Given the description of an element on the screen output the (x, y) to click on. 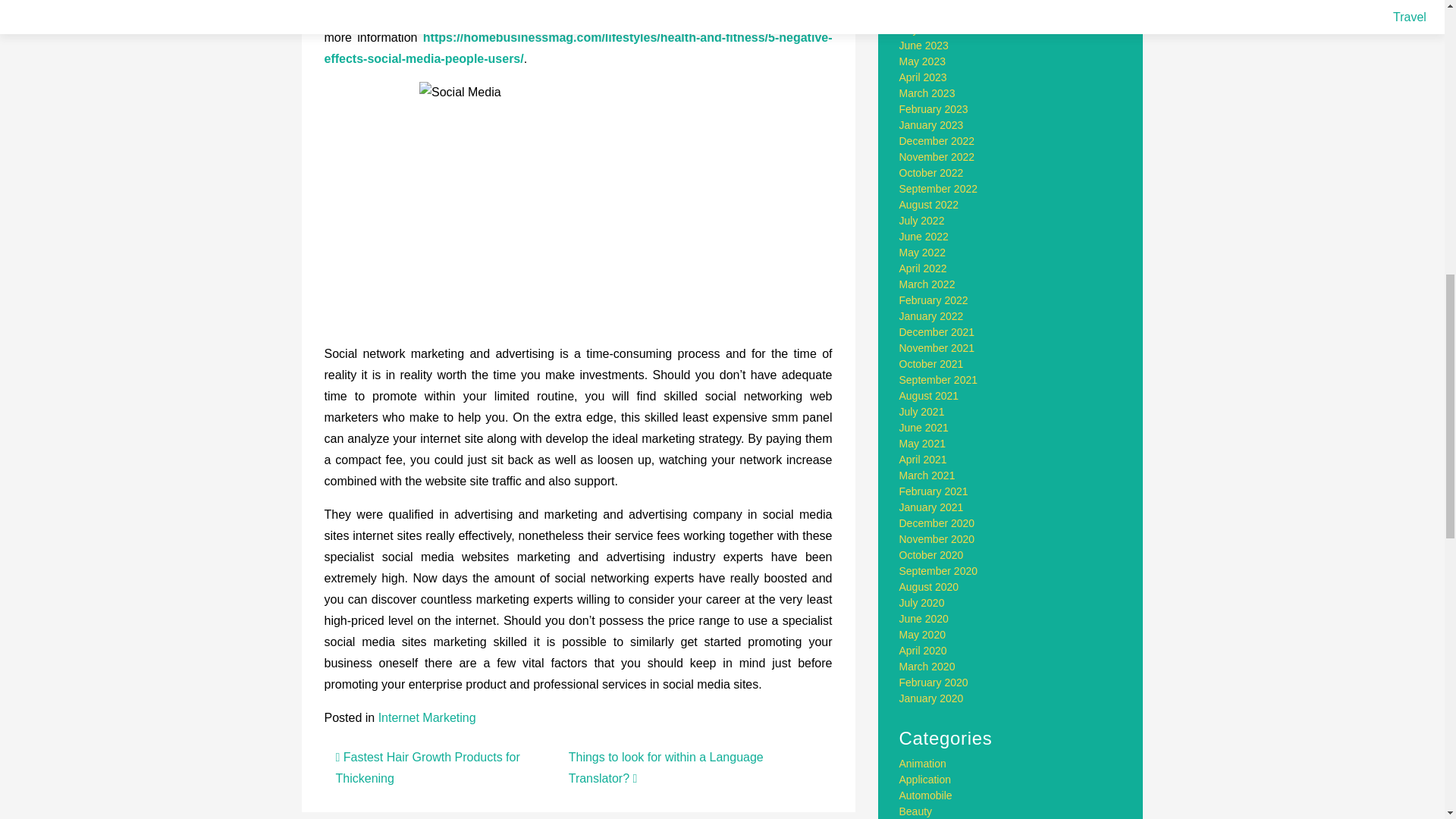
Internet Marketing (427, 717)
 Fastest Hair Growth Products for Thickening (426, 767)
August 2023 (929, 13)
July 2023 (921, 29)
July 2022 (921, 220)
October 2022 (931, 173)
January 2023 (931, 124)
May 2023 (921, 61)
April 2023 (923, 77)
December 2022 (937, 141)
